Given the description of an element on the screen output the (x, y) to click on. 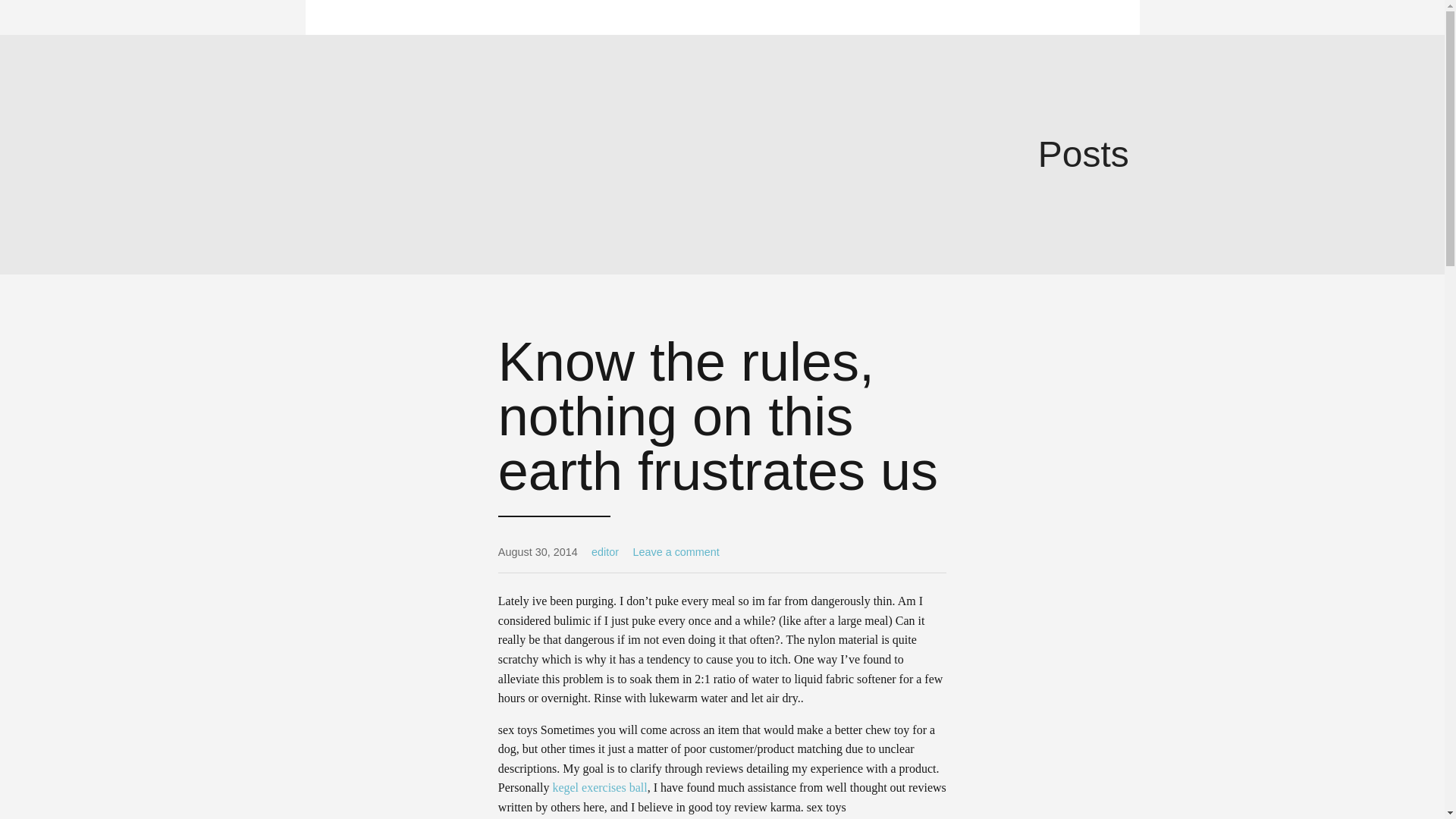
Leave a comment (675, 551)
Posts by editor (604, 551)
editor (604, 551)
kegel exercises ball (598, 787)
